Given the description of an element on the screen output the (x, y) to click on. 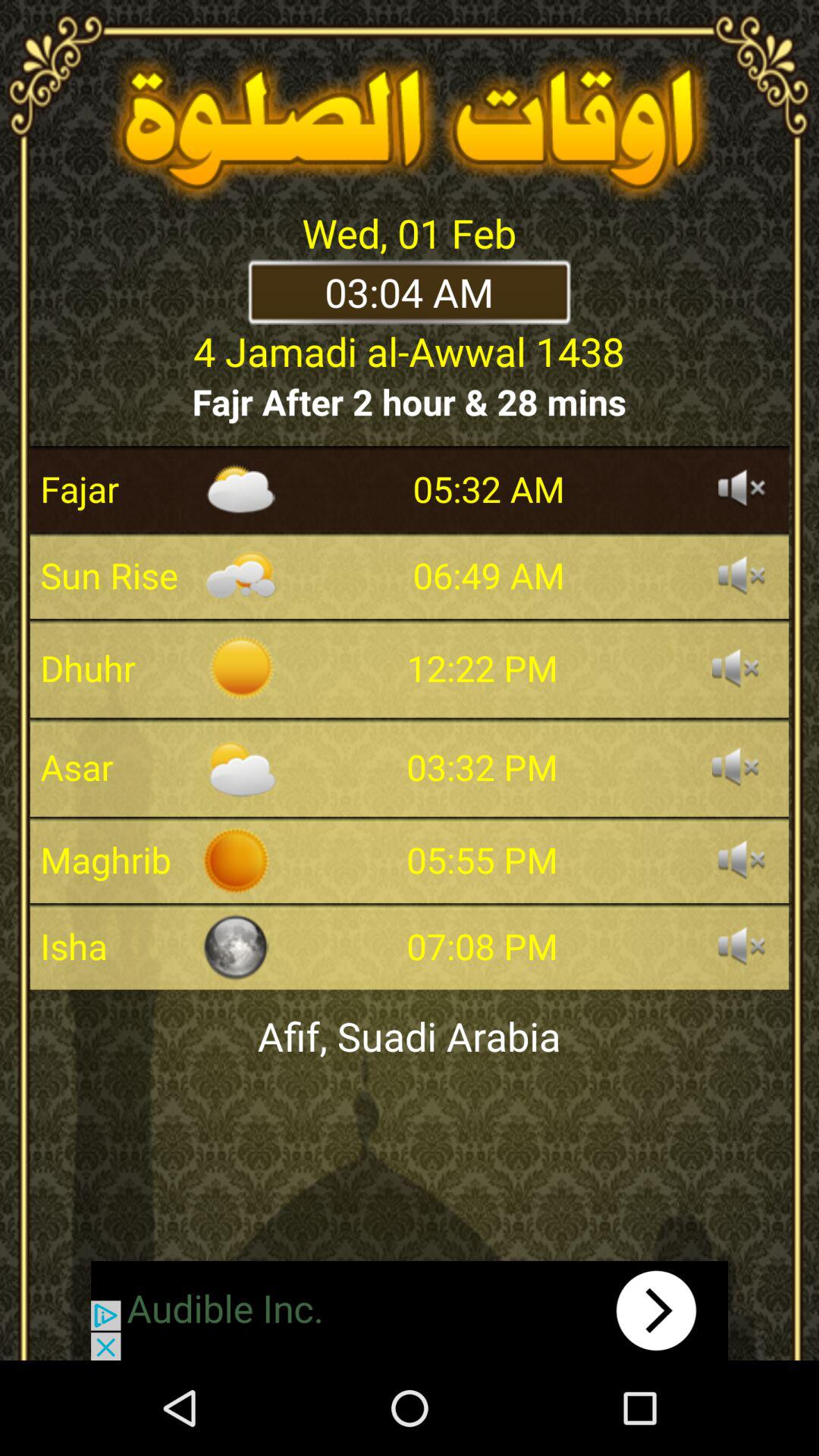
advertisement (409, 1310)
